Given the description of an element on the screen output the (x, y) to click on. 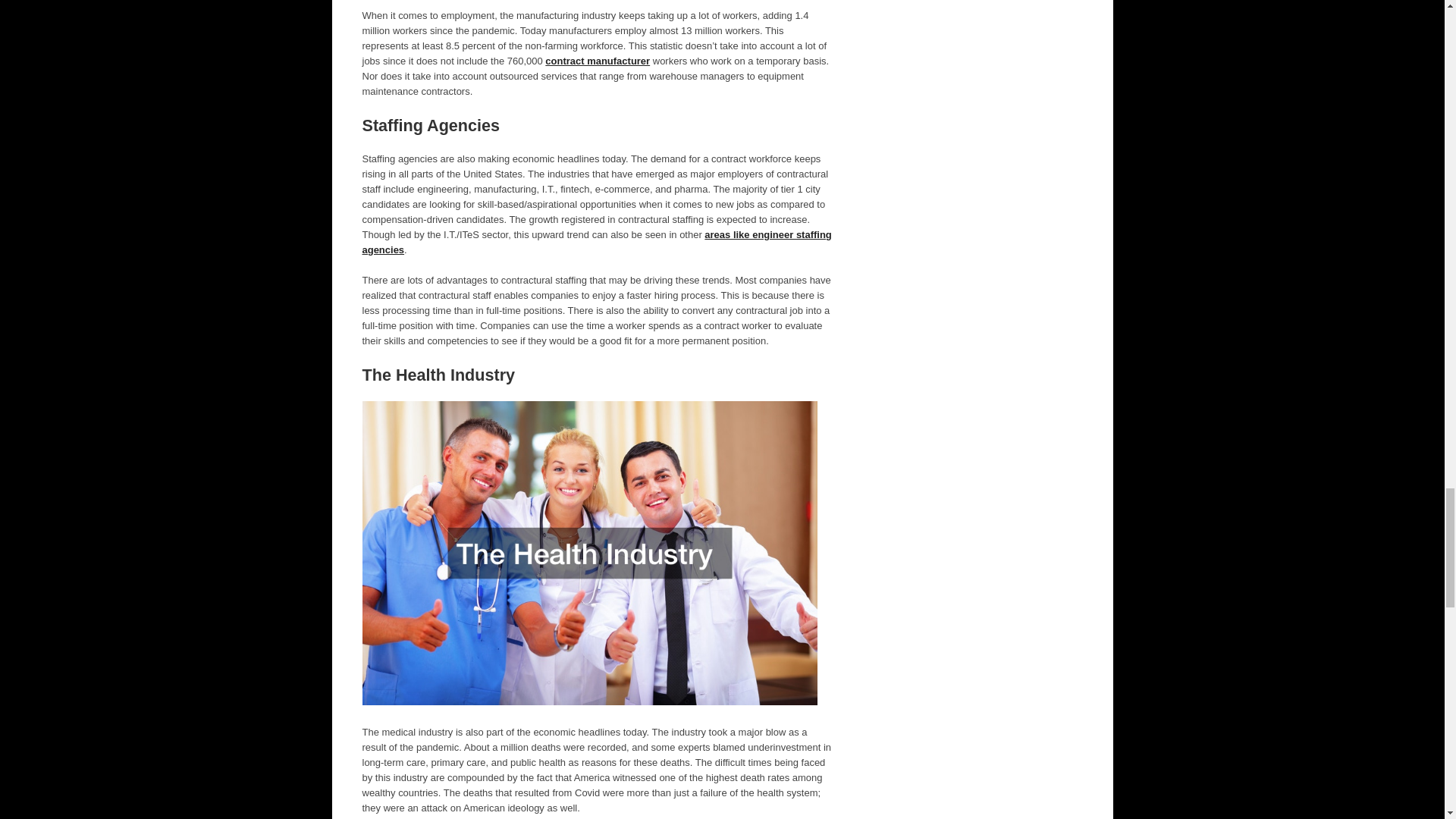
areas like engineer staffing agencies (596, 242)
contract manufacturer (596, 60)
